Given the description of an element on the screen output the (x, y) to click on. 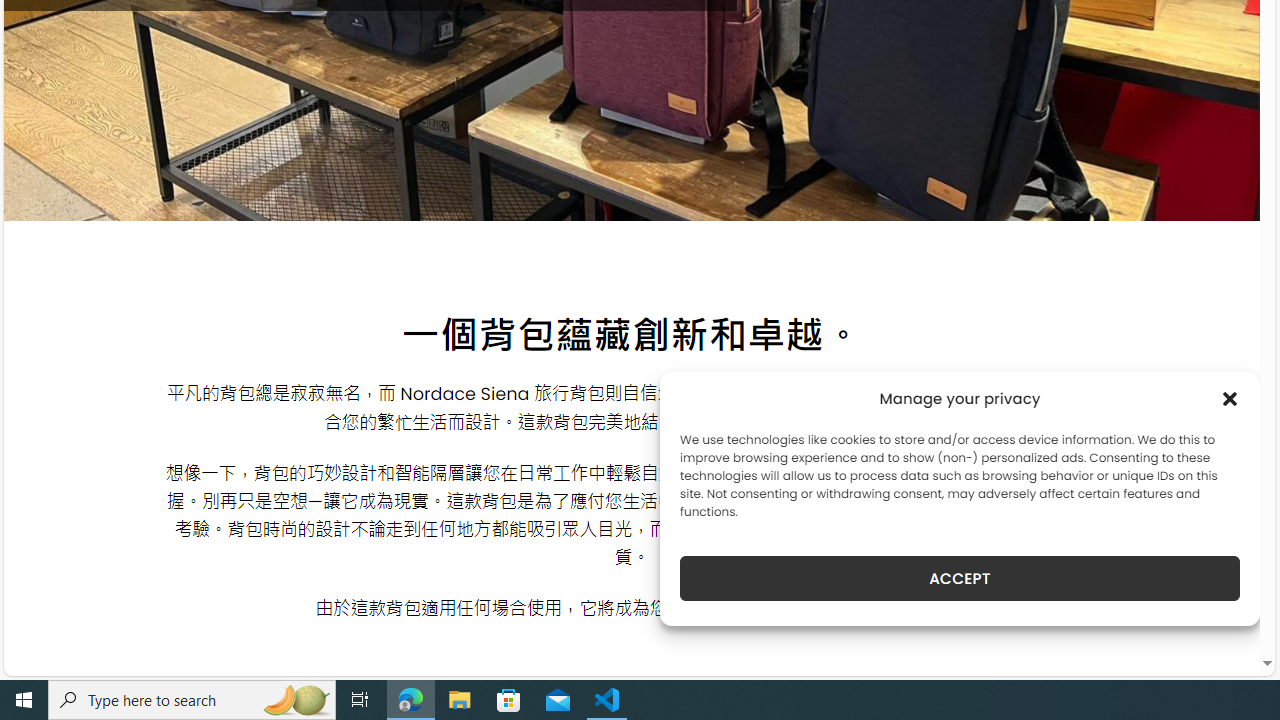
ACCEPT (959, 578)
Class: cmplz-close (1229, 398)
